Given the description of an element on the screen output the (x, y) to click on. 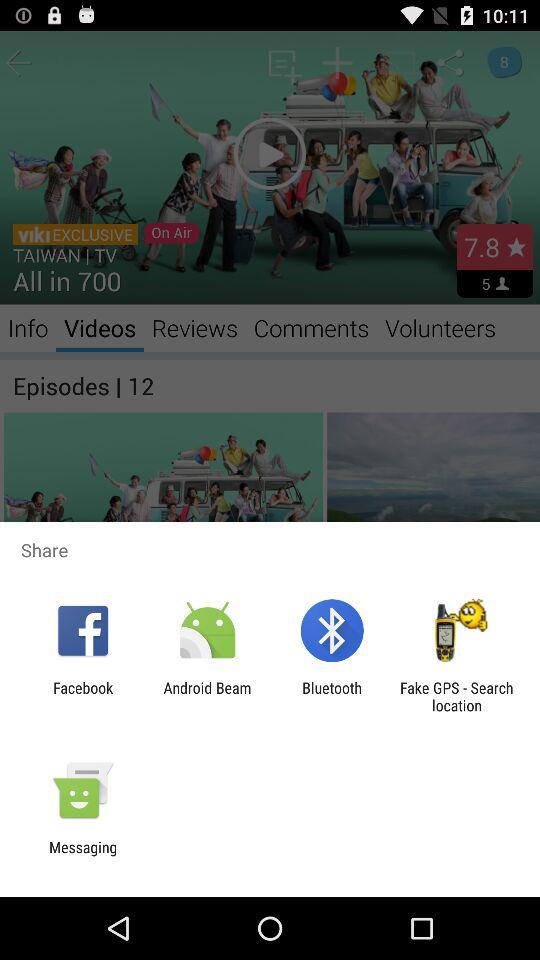
jump until the facebook item (83, 696)
